Given the description of an element on the screen output the (x, y) to click on. 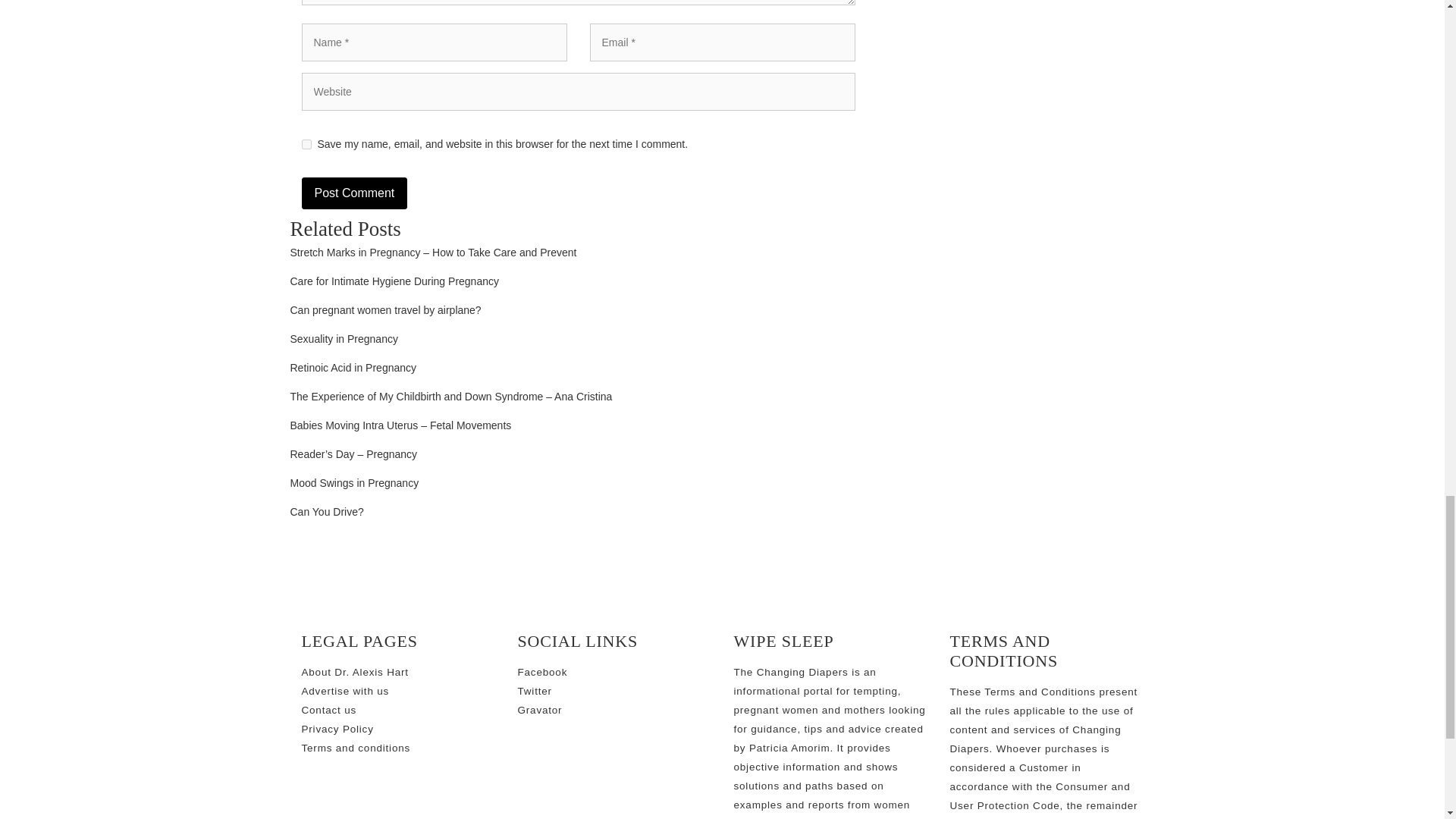
yes (306, 144)
Post Comment (354, 193)
